Given the description of an element on the screen output the (x, y) to click on. 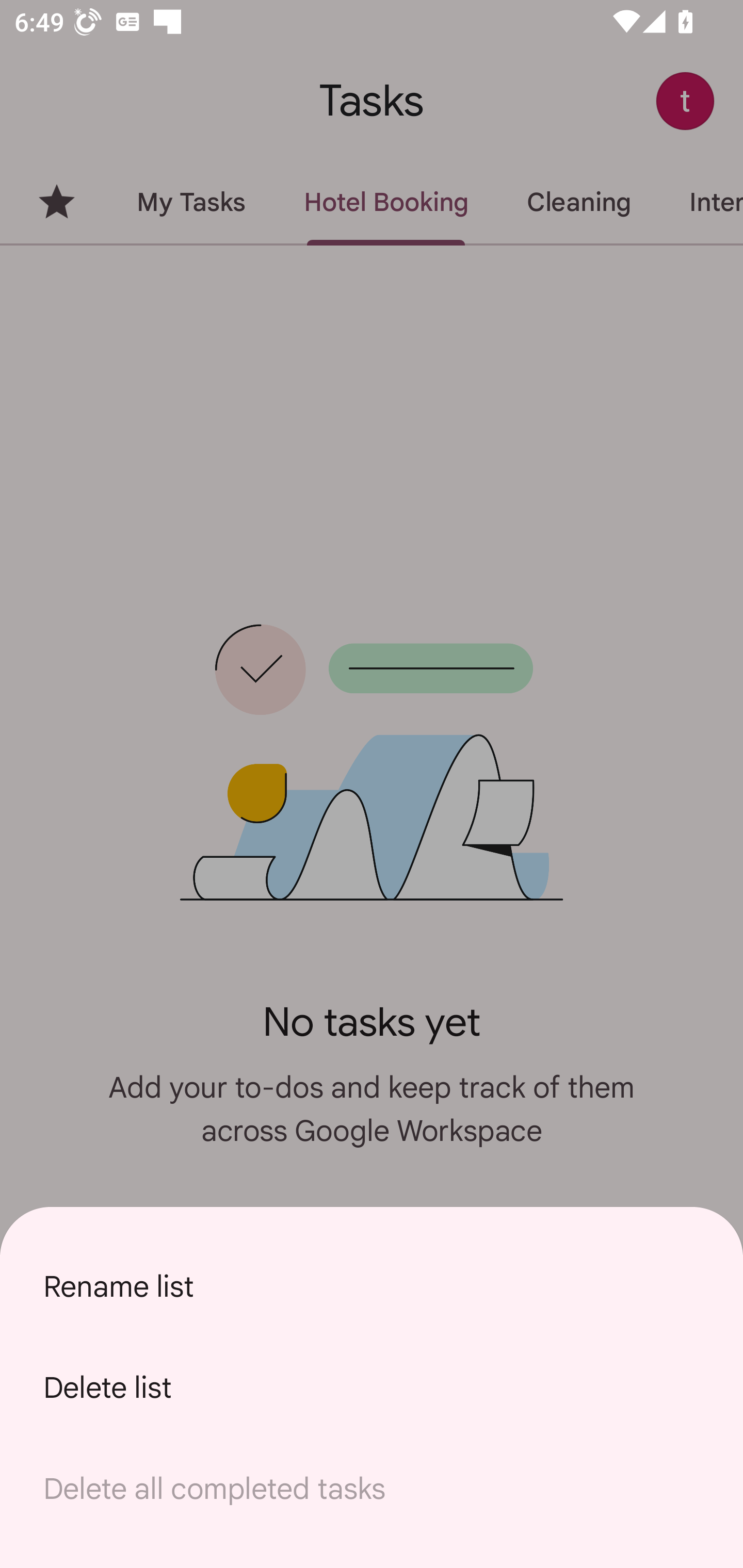
Rename list (371, 1286)
Delete list (371, 1387)
Delete all completed tasks (371, 1488)
